Given the description of an element on the screen output the (x, y) to click on. 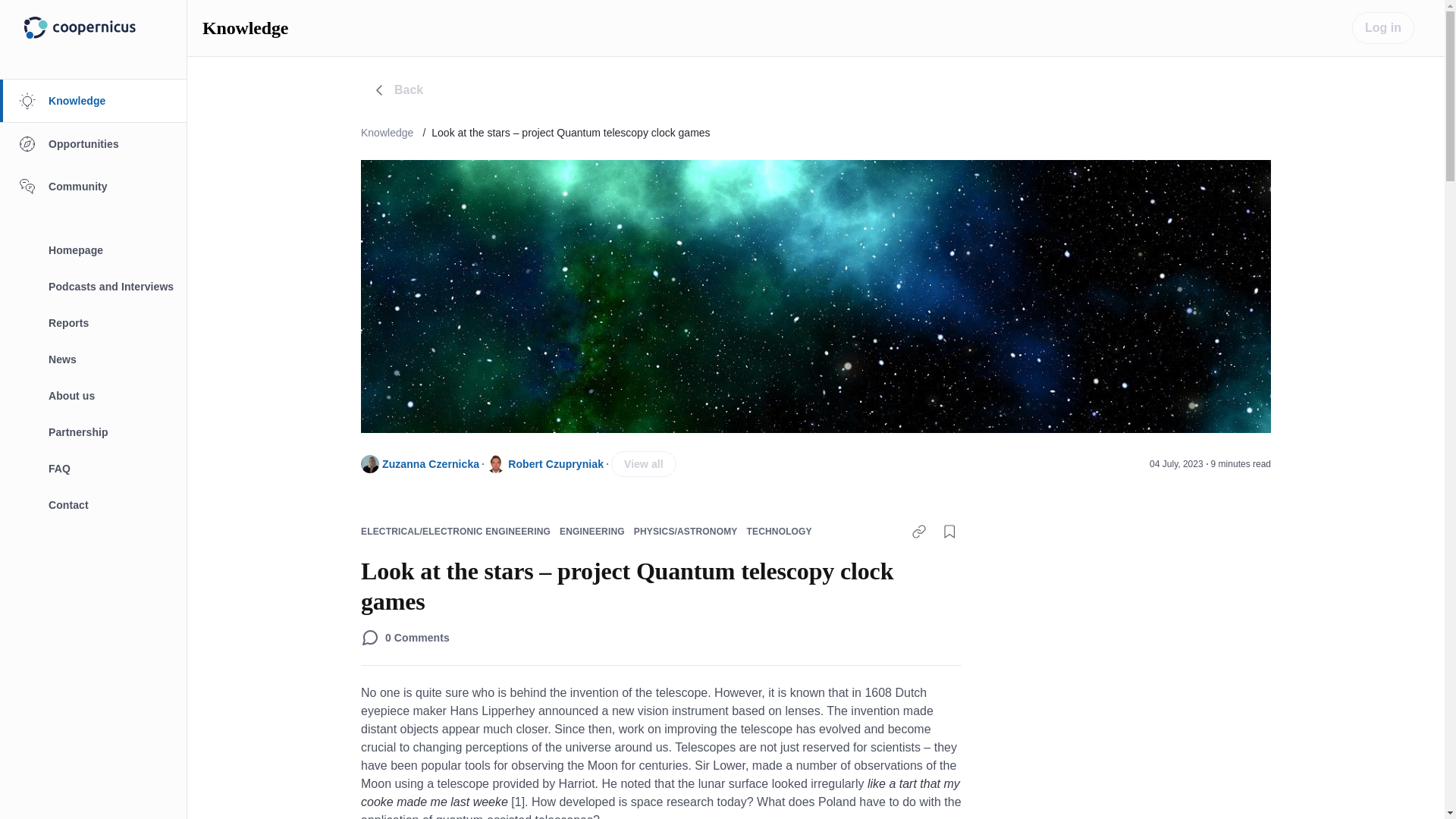
Log in (1382, 28)
Community (95, 186)
Back (398, 90)
Knowledge (395, 132)
Homepage (95, 249)
Opportunities (95, 143)
Zuzanna Czernicka (430, 463)
Back (398, 90)
Log in (1382, 26)
Podcasts and Interviews (95, 286)
About us (95, 395)
News (95, 359)
View all (644, 463)
Partnership (95, 432)
Contact (95, 504)
